Given the description of an element on the screen output the (x, y) to click on. 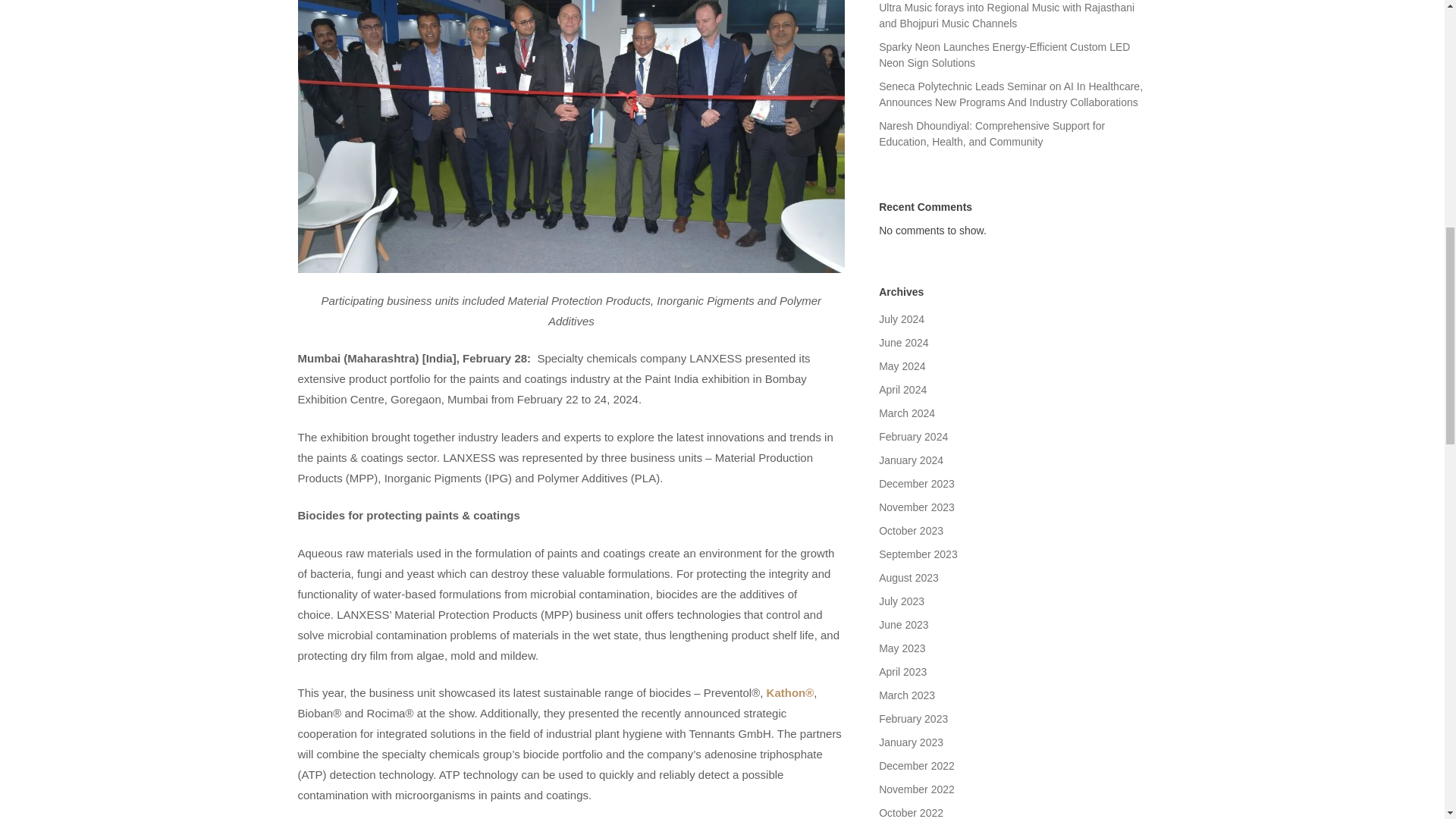
July 2024 (901, 318)
May 2024 (901, 366)
March 2024 (906, 413)
April 2024 (902, 389)
June 2024 (903, 342)
